Given the description of an element on the screen output the (x, y) to click on. 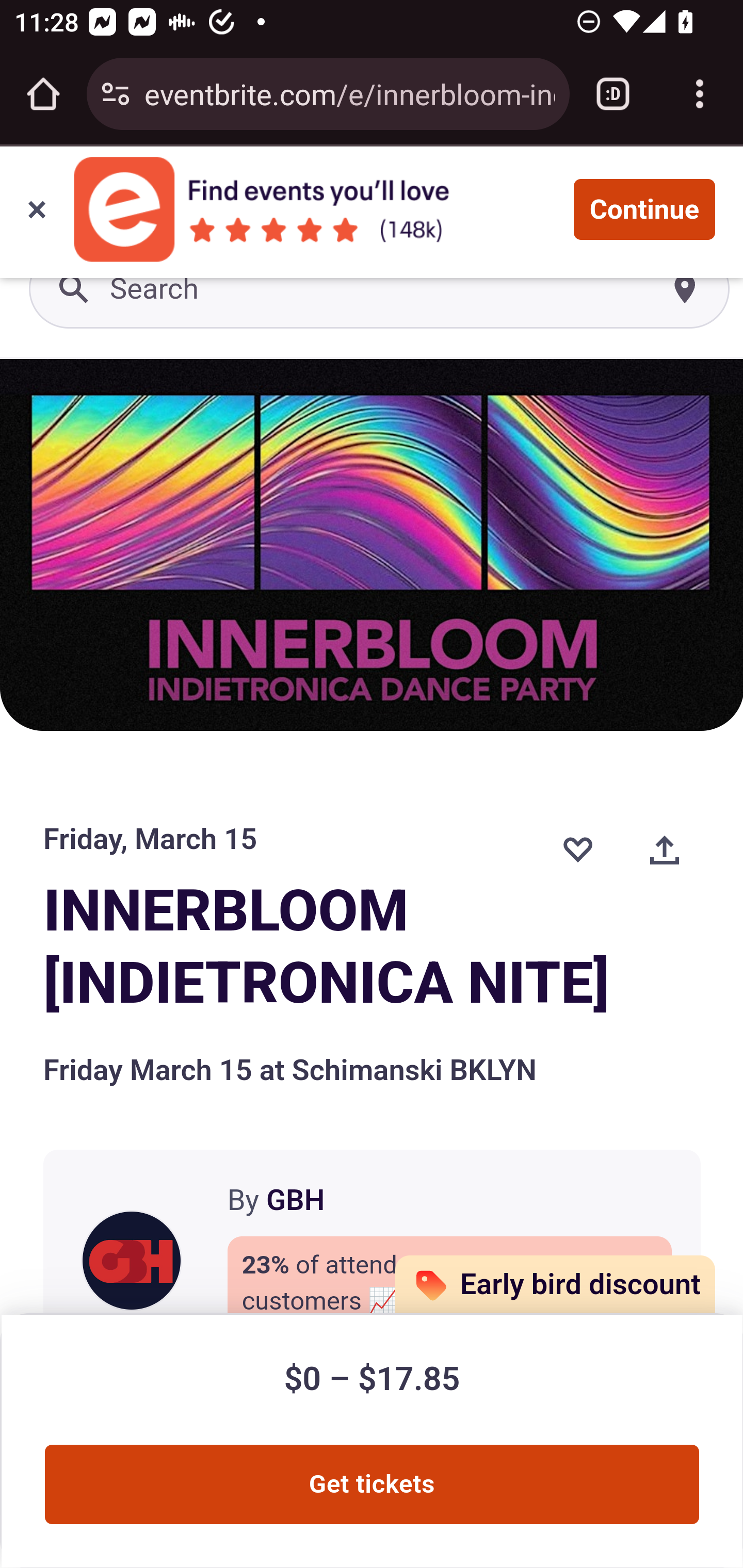
Open the home page (43, 93)
Connection is secure (115, 93)
Switch or close tabs (612, 93)
Customize and control Google Chrome (699, 93)
Home Eventbrite (50, 198)
Search (379, 289)
Like Event (577, 848)
Share this event (665, 848)
Get tickets (371, 1484)
